Given the description of an element on the screen output the (x, y) to click on. 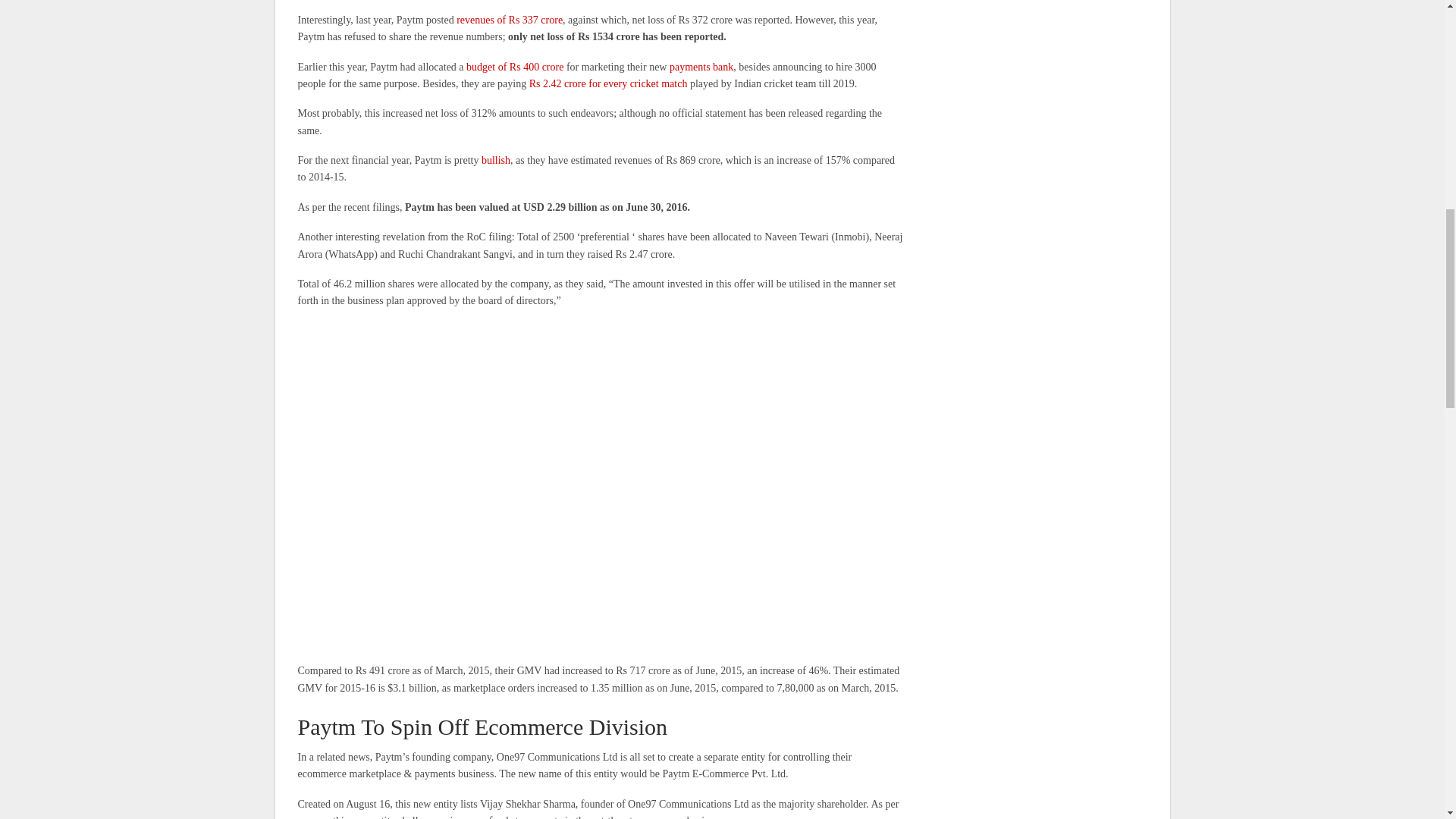
budget of Rs 400 crore (514, 66)
Rs 2.42 crore for every cricket match (608, 83)
revenues of Rs 337 crore (509, 19)
revenues of Rs 337 crore (509, 19)
bullish (496, 160)
payments bank (701, 66)
budget of Rs 400 crore (514, 66)
Rs 2.42 crore for every cricket match (608, 83)
